Given the description of an element on the screen output the (x, y) to click on. 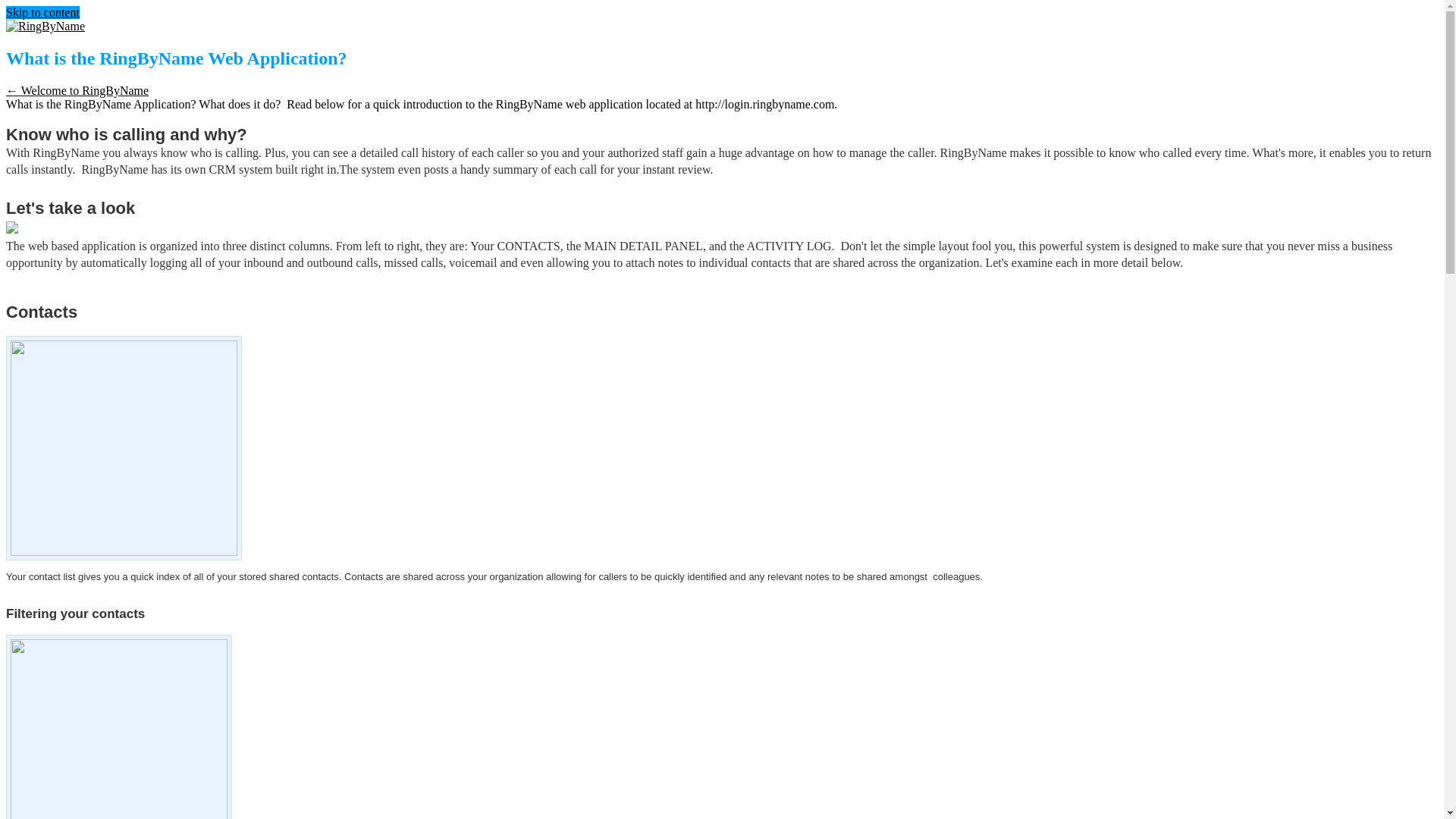
RingByName Community Support Portal (44, 25)
Skip to content (42, 11)
